Given the description of an element on the screen output the (x, y) to click on. 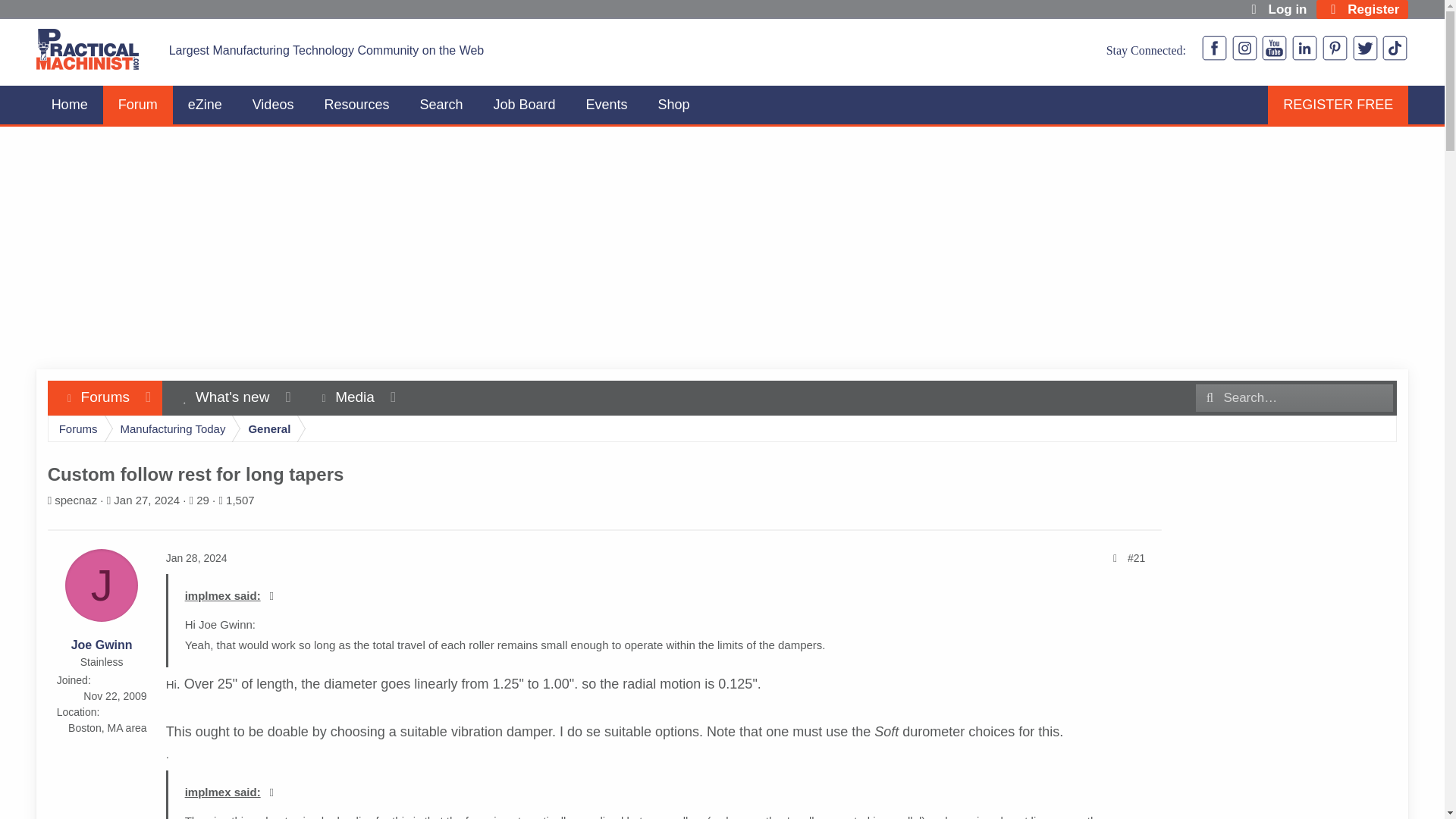
Jan 27, 2024 at 3:05 PM (146, 499)
Events (606, 104)
Replies (197, 499)
Home (227, 414)
Register (69, 104)
Search (1362, 9)
eZine (440, 104)
Views (205, 104)
Forum (233, 499)
REGISTER FREE (138, 104)
Log in (1337, 104)
Resources (1276, 9)
3rd party ad content (356, 104)
